Given the description of an element on the screen output the (x, y) to click on. 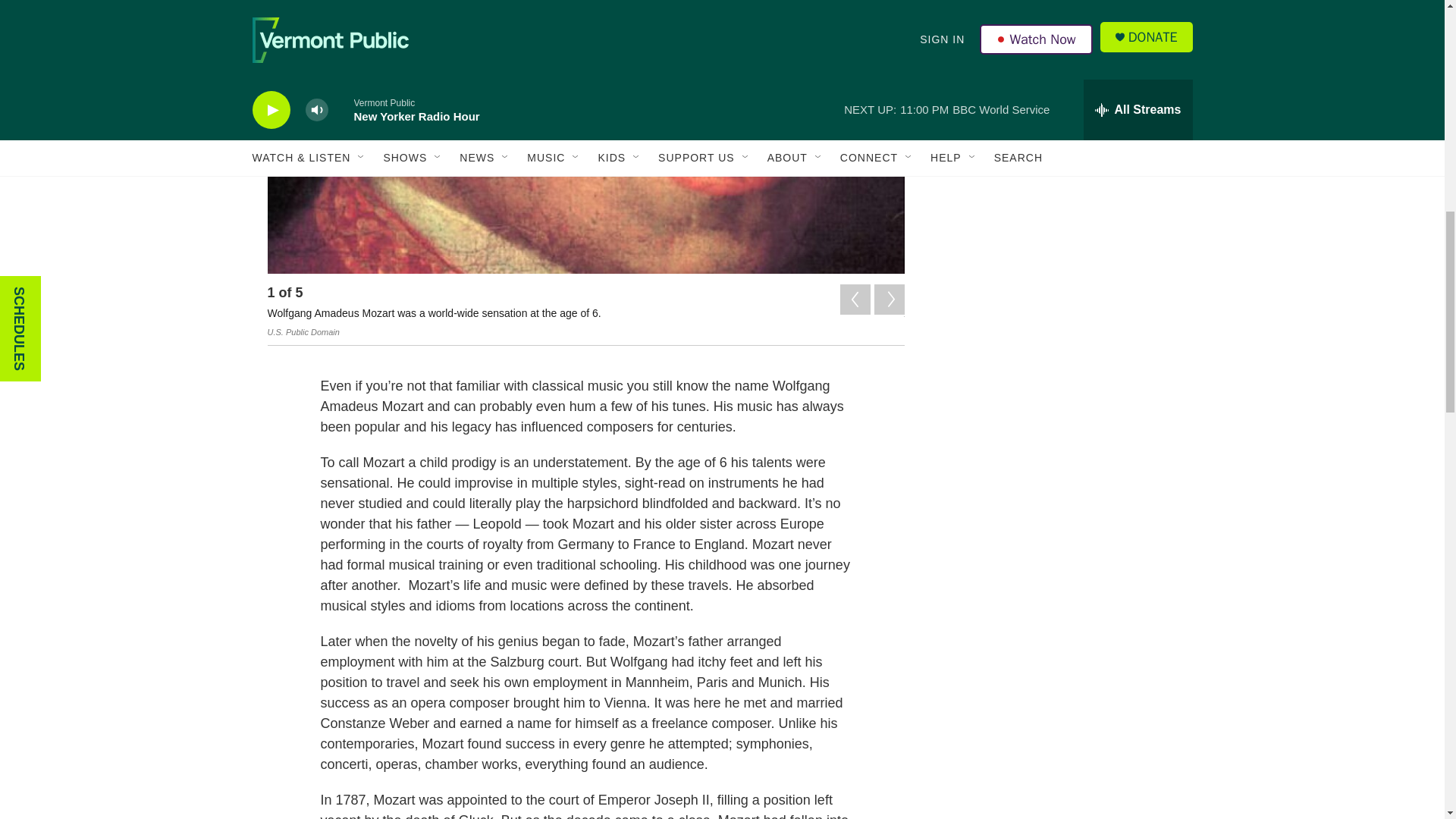
3rd party ad content (1062, 60)
3rd party ad content (1062, 246)
